Given the description of an element on the screen output the (x, y) to click on. 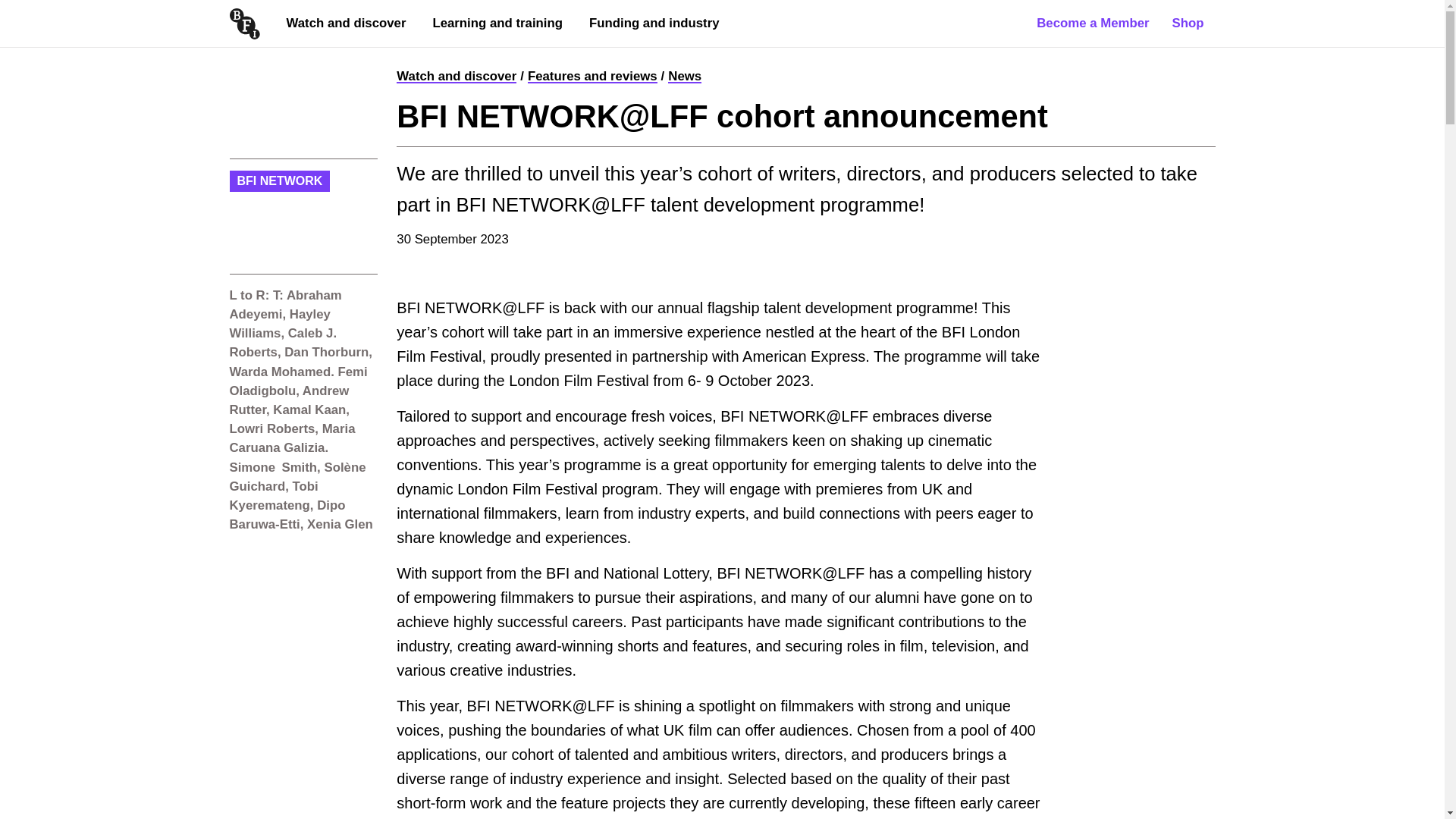
News (684, 75)
Shop (1187, 22)
Skip to content (18, 7)
Open submenu (441, 54)
Features and reviews (592, 75)
Open submenu (598, 54)
Become a Member (1092, 22)
Watch and discover (456, 75)
Watch and discover (345, 23)
Learning and training (496, 23)
Open submenu (295, 54)
BFI NETWORK (278, 180)
Funding and industry (654, 23)
